Given the description of an element on the screen output the (x, y) to click on. 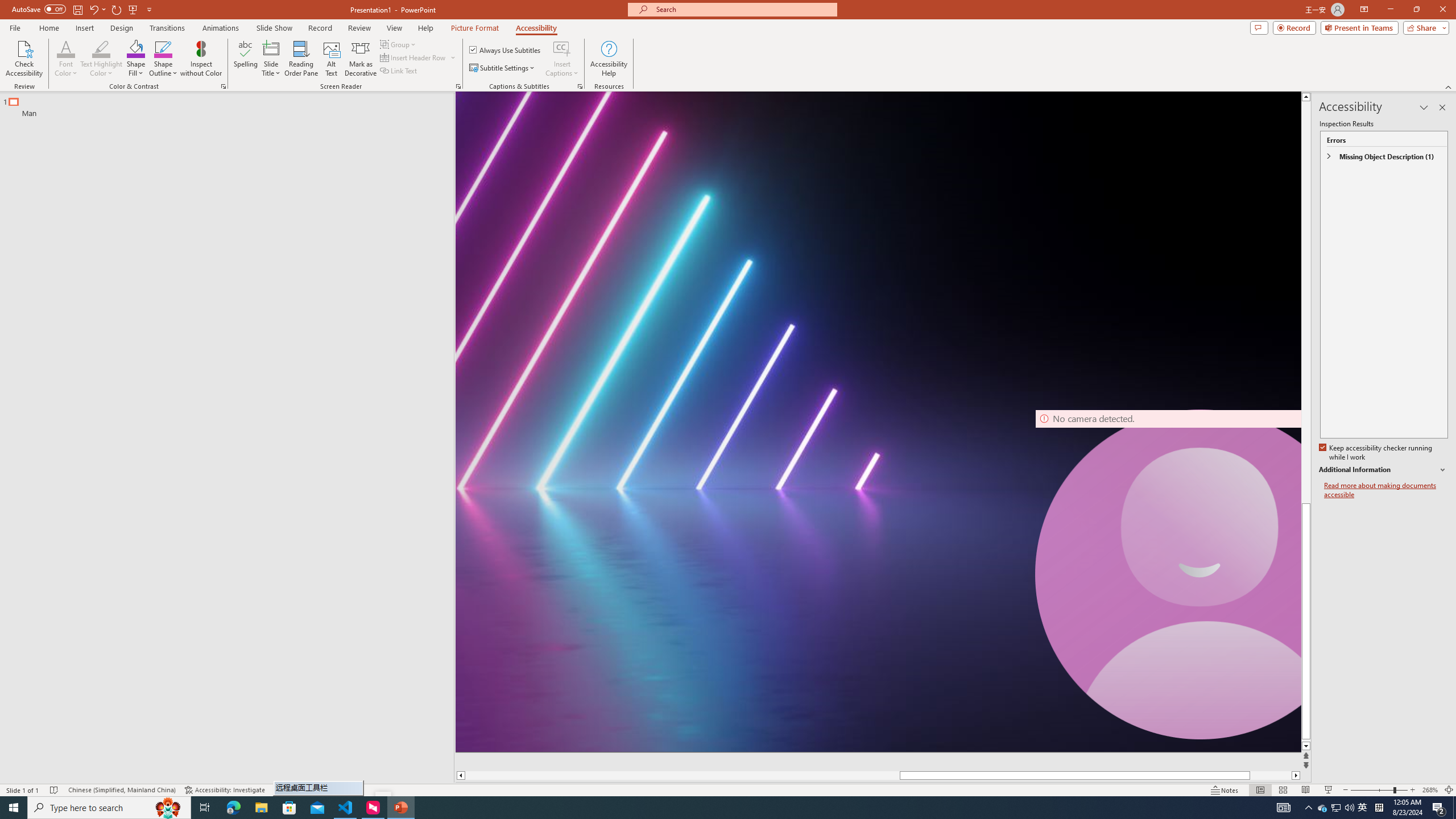
Accessibility Help (608, 58)
Text Highlight Color (100, 48)
Spelling... (245, 58)
Class: MsoCommandBar (728, 789)
Shape Outline Blue, Accent 1 (163, 48)
Alt Text (331, 58)
